Given the description of an element on the screen output the (x, y) to click on. 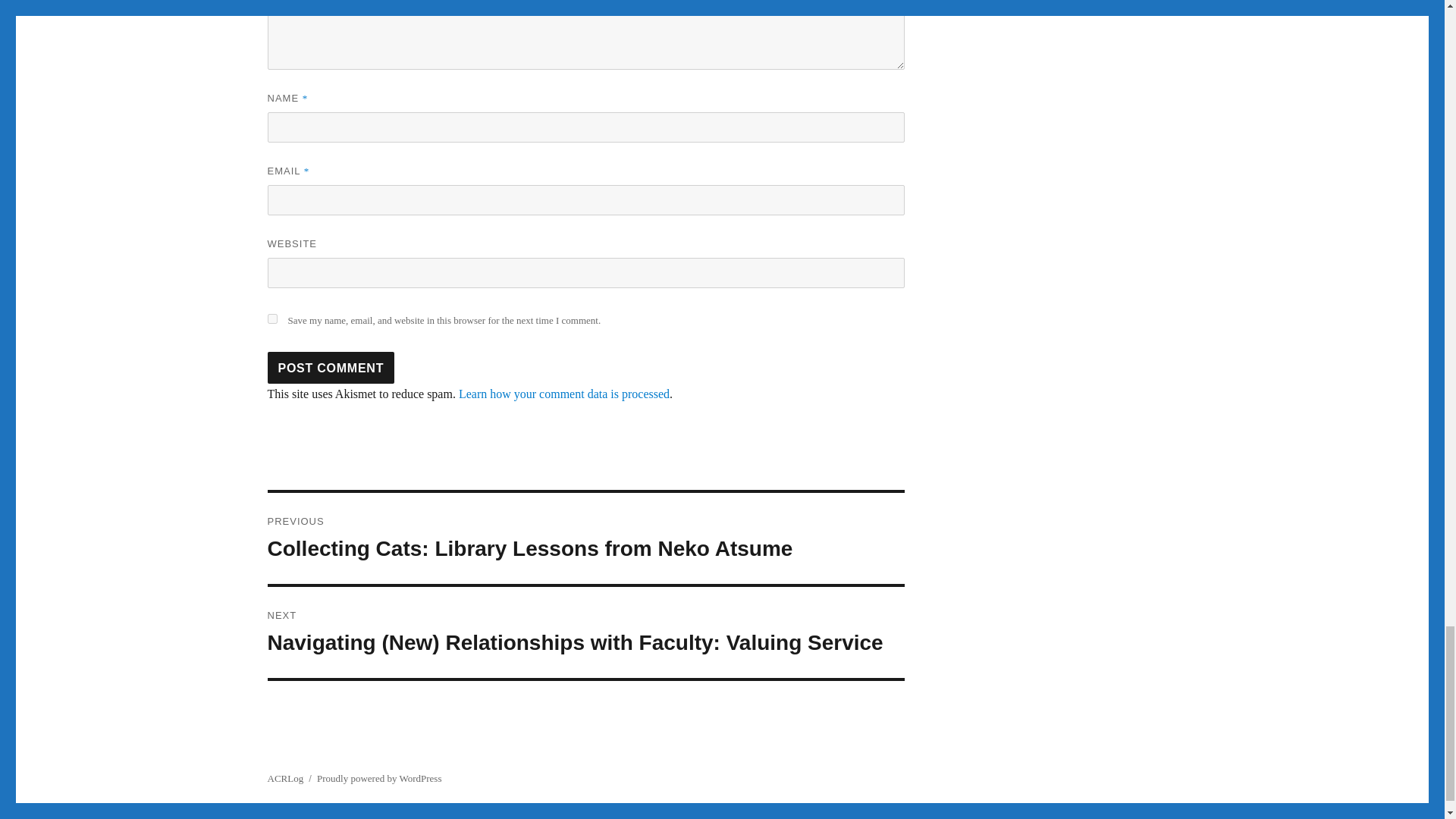
Learn how your comment data is processed (563, 393)
Post Comment (330, 368)
Post Comment (330, 368)
yes (271, 318)
